Given the description of an element on the screen output the (x, y) to click on. 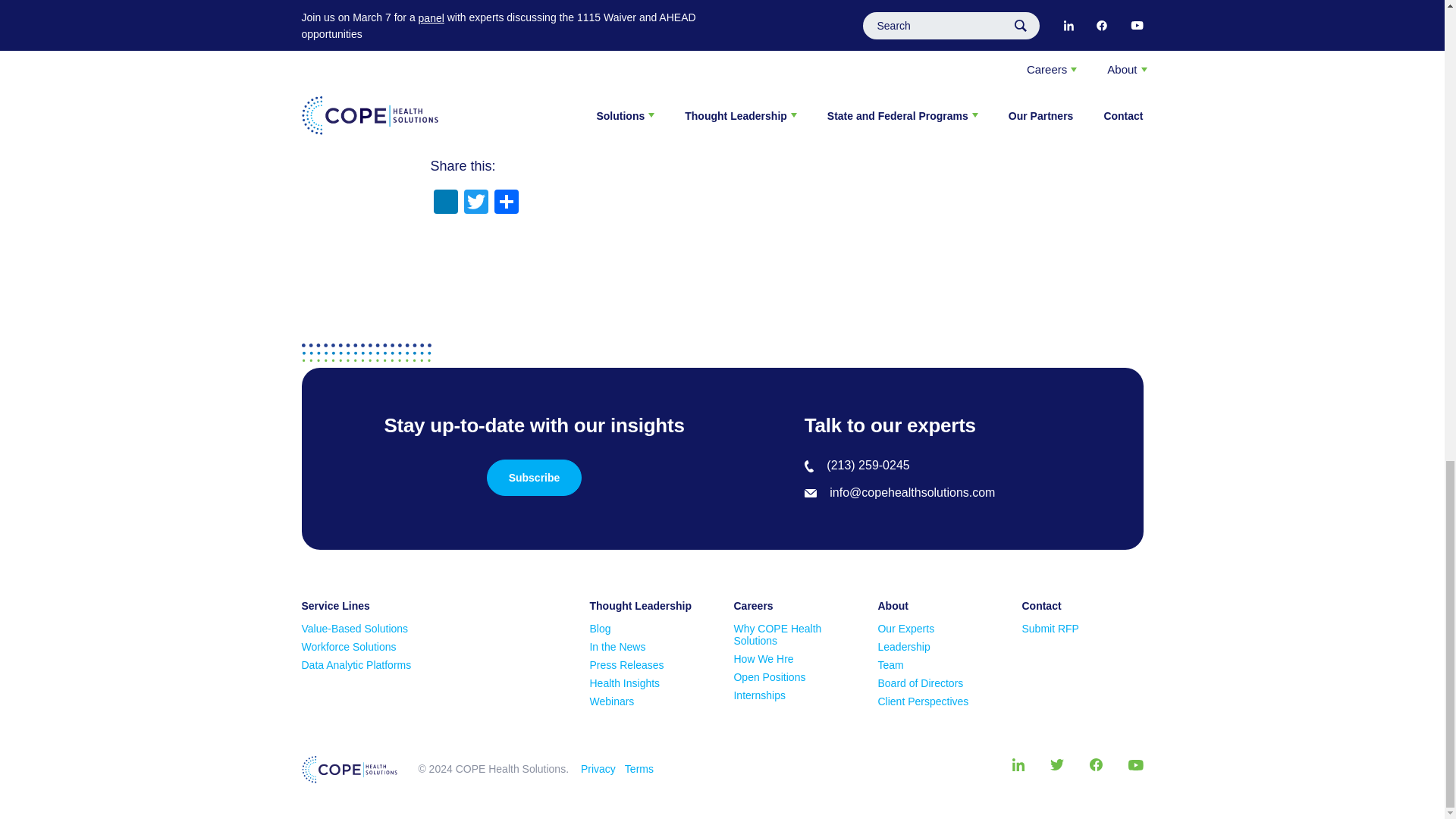
LinkedIn (445, 203)
Twitter (476, 203)
